Given the description of an element on the screen output the (x, y) to click on. 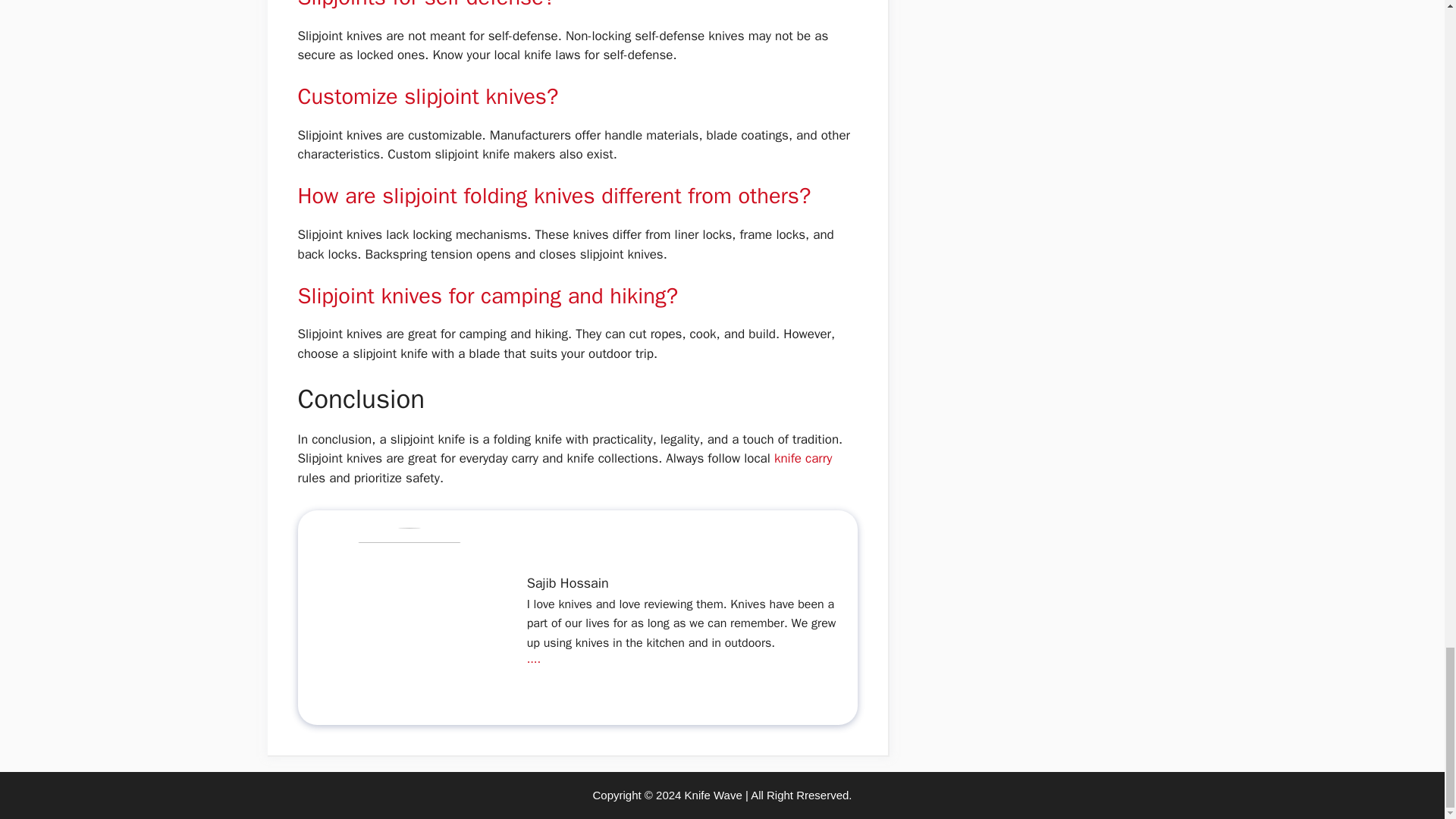
Read more about this author (533, 659)
.... (533, 659)
knife carry (802, 458)
